Given the description of an element on the screen output the (x, y) to click on. 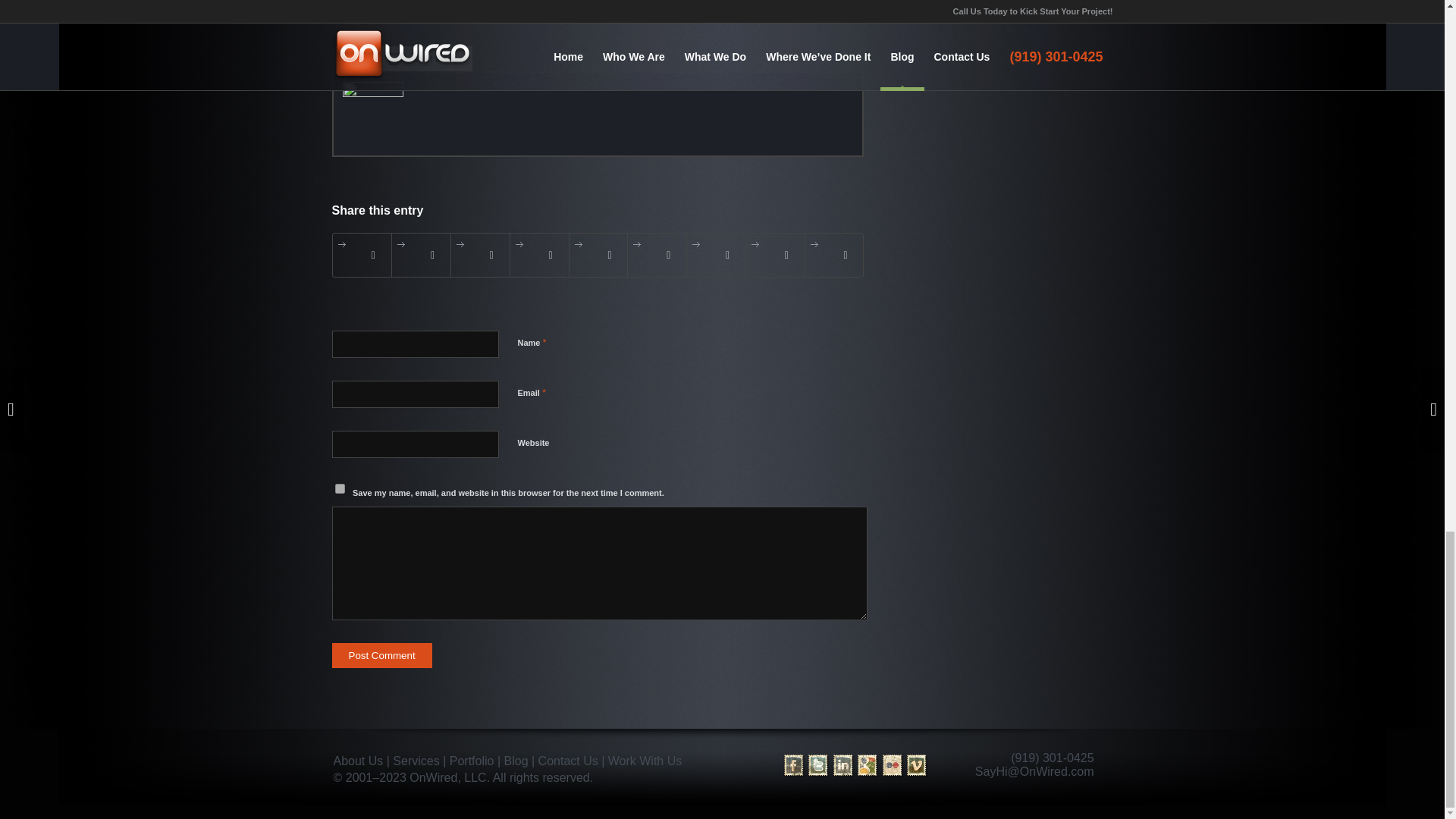
Post Comment (381, 655)
yes (339, 488)
